Given the description of an element on the screen output the (x, y) to click on. 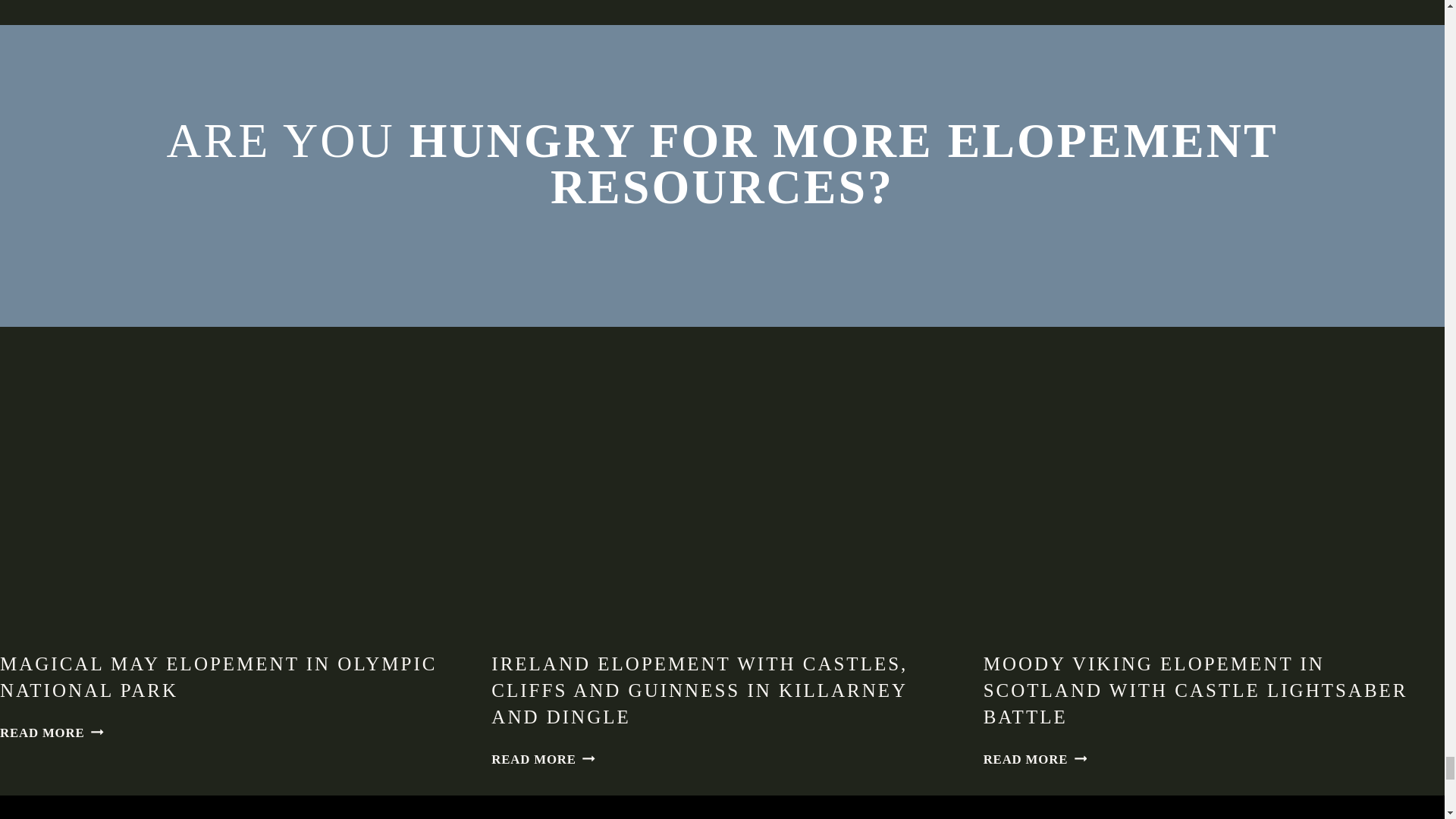
MAGICAL MAY ELOPEMENT IN OLYMPIC NATIONAL PARK (51, 732)
